Given the description of an element on the screen output the (x, y) to click on. 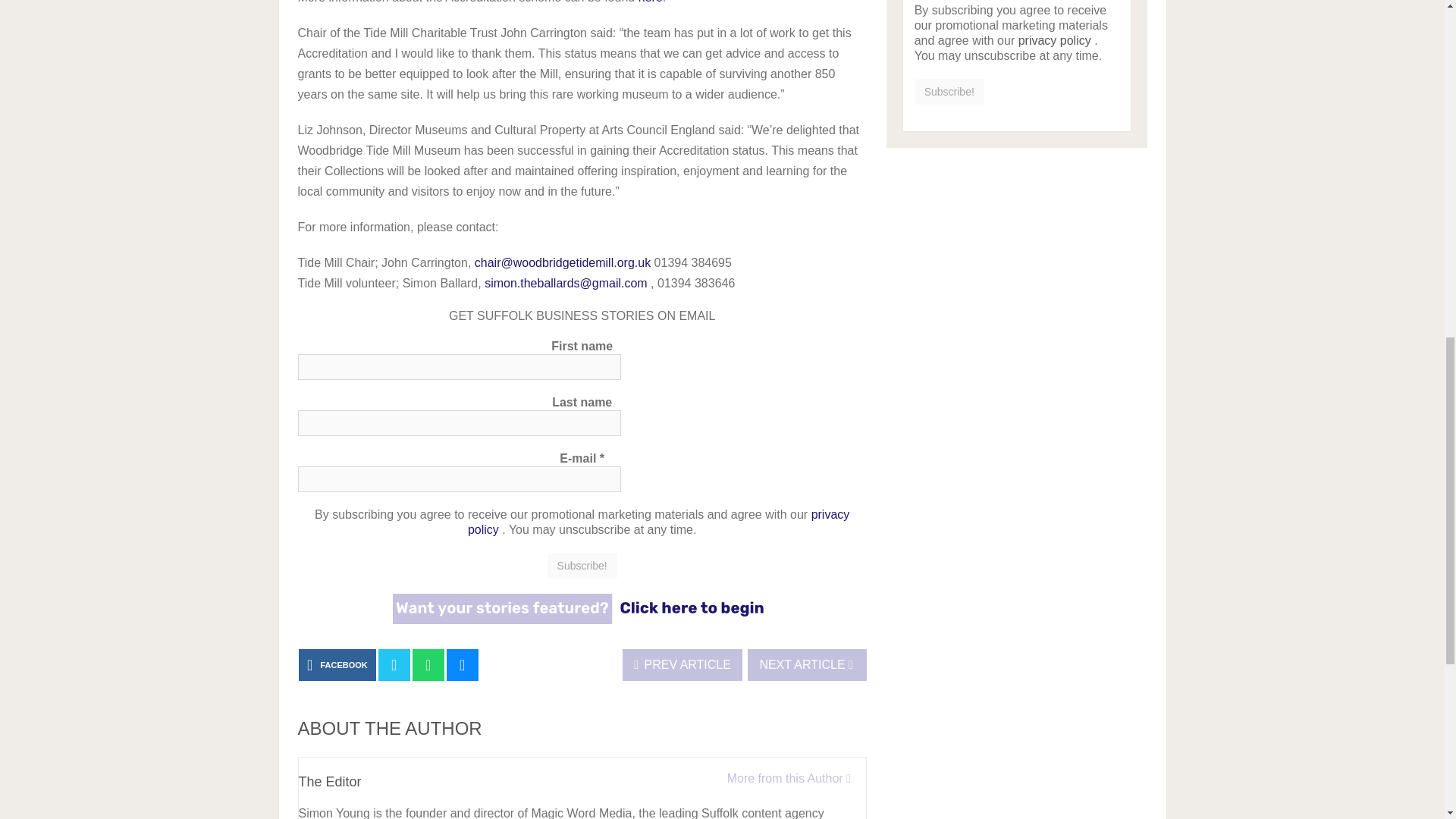
Subscribe! (582, 565)
privacy policy (657, 521)
Subscribe! (582, 565)
Subscribe! (949, 91)
E-mail (458, 479)
FACEBOOK (336, 664)
PREV ARTICLE (682, 664)
privacy policy (1053, 40)
here (650, 2)
NEXT ARTICLE (807, 664)
